Given the description of an element on the screen output the (x, y) to click on. 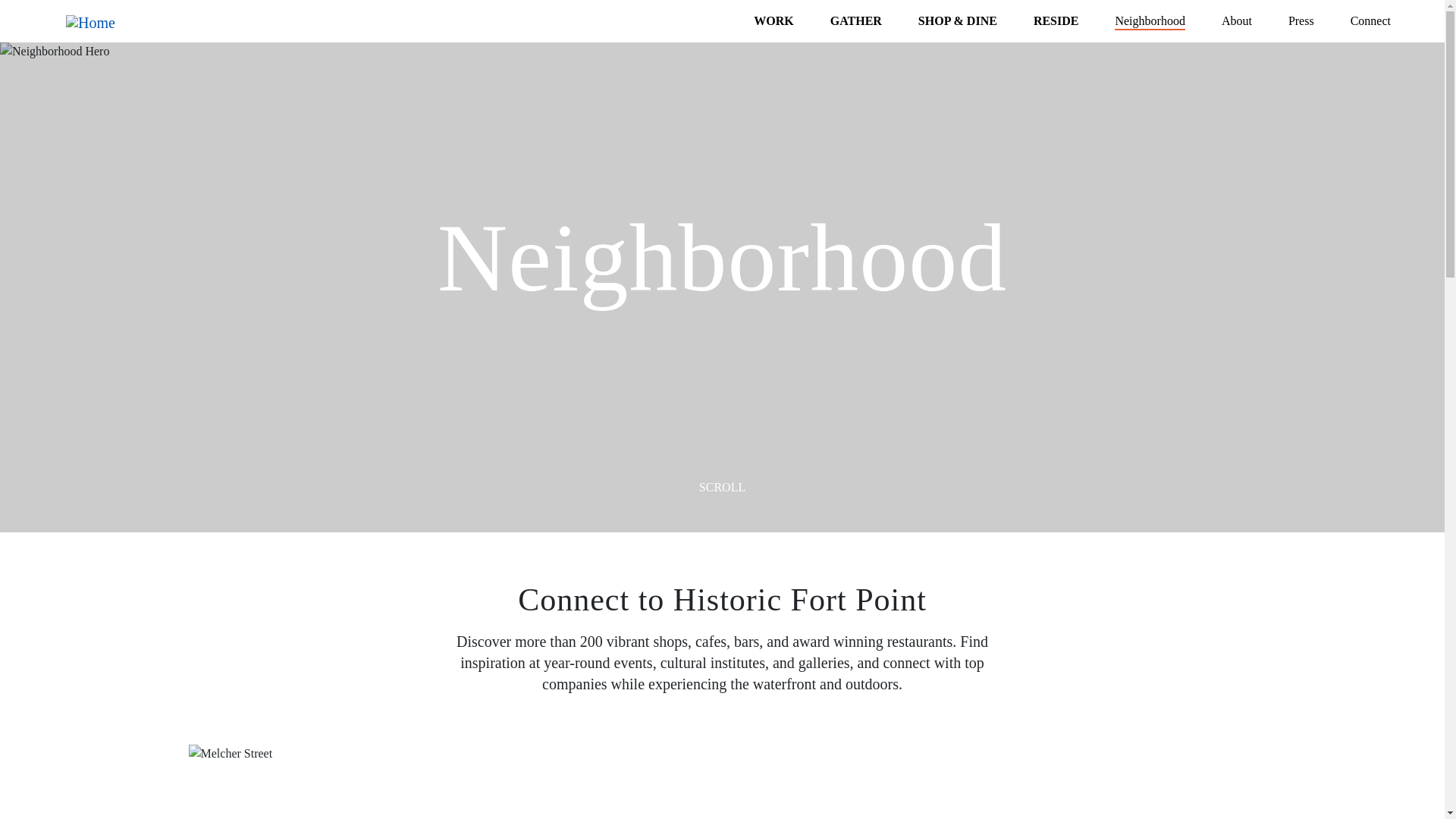
About (1236, 21)
Neighborhood (1150, 21)
Press (1301, 21)
Connect (1370, 21)
RESIDE (1055, 21)
WORK (773, 21)
Home (96, 20)
GATHER (855, 21)
